Given the description of an element on the screen output the (x, y) to click on. 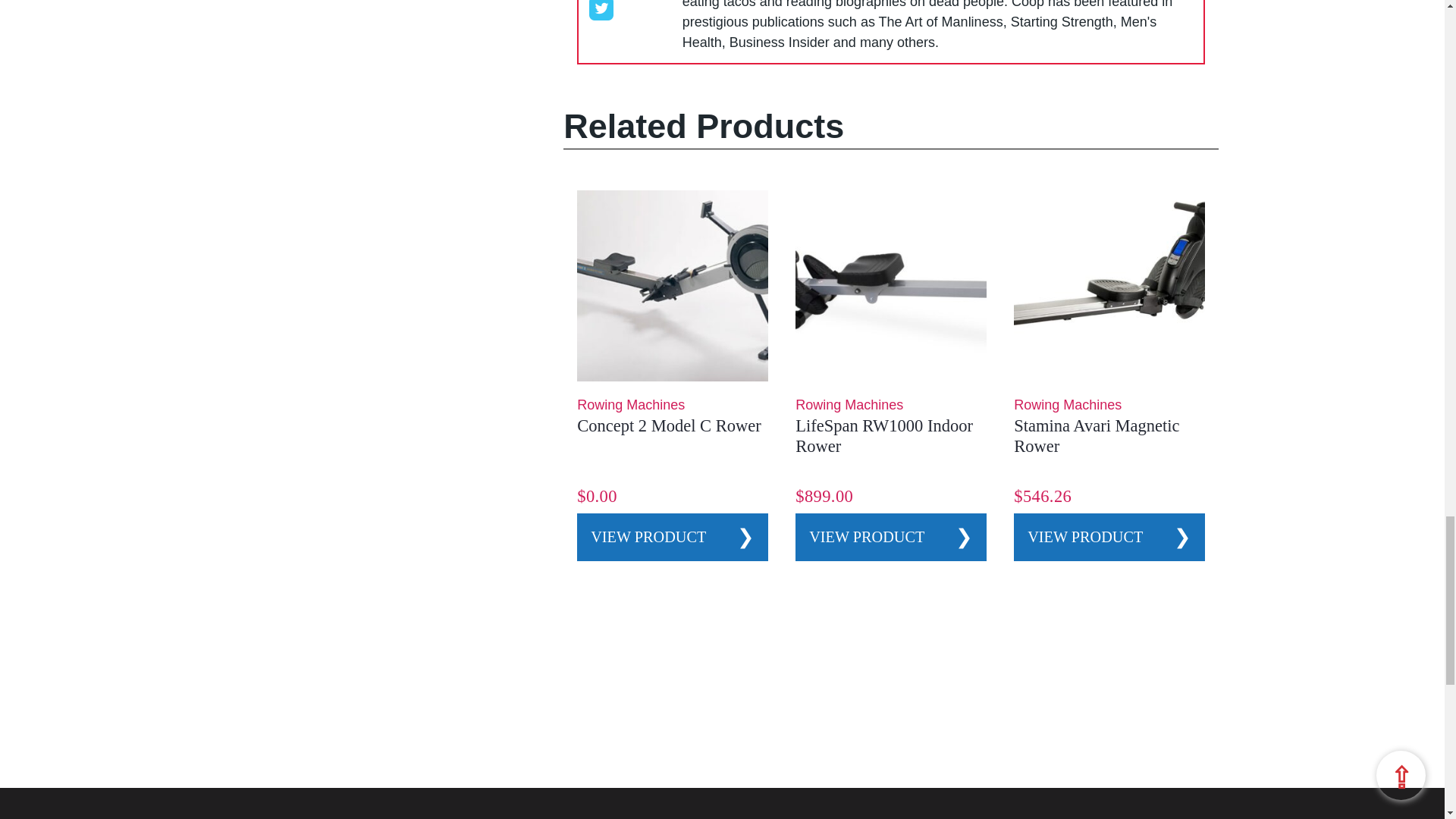
Concept 2 Model C Rower (668, 425)
Stamina Avari Magnetic Rower (1096, 435)
LifeSpan RW1000 Indoor Rower (883, 435)
